Given the description of an element on the screen output the (x, y) to click on. 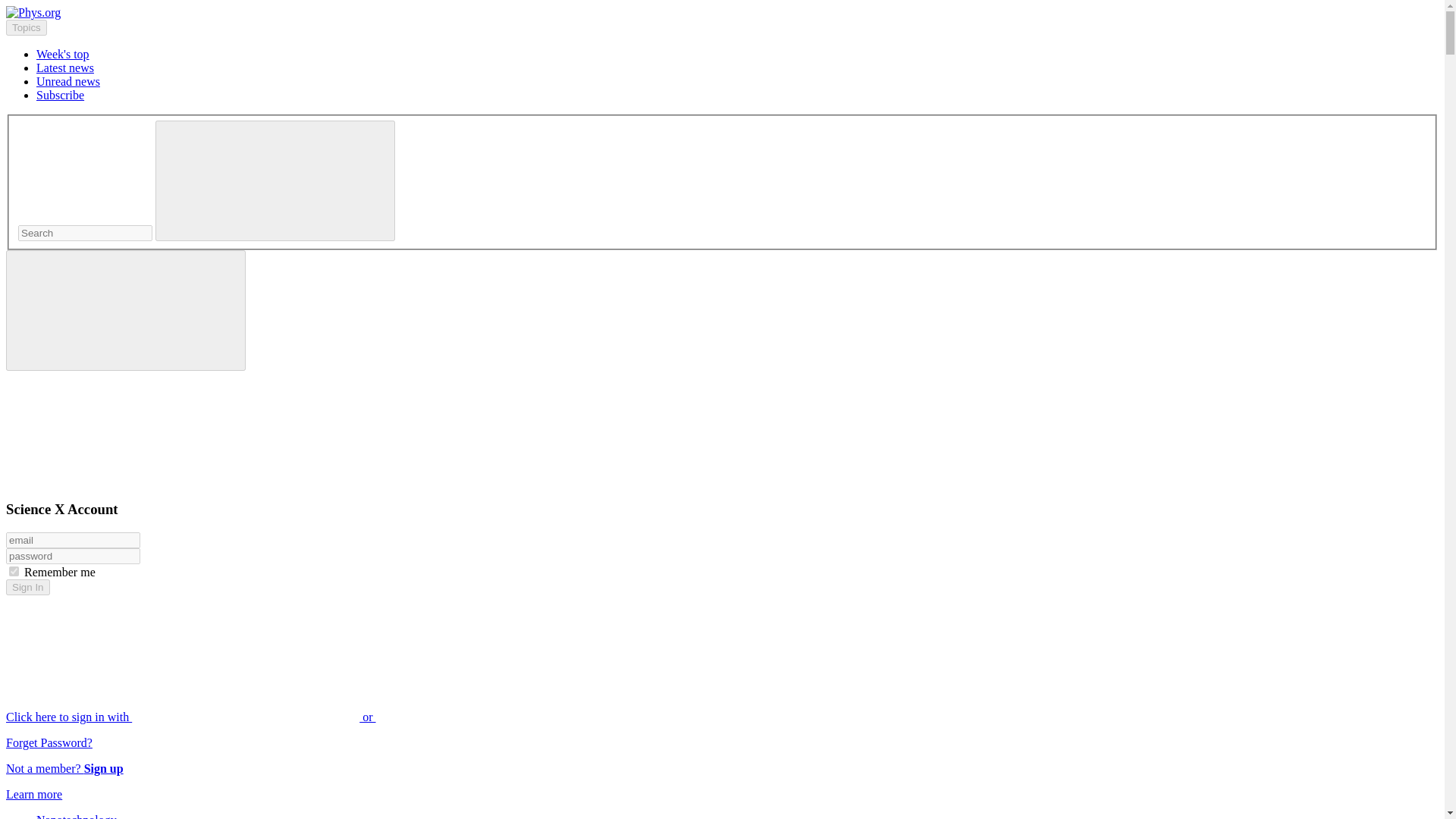
Week's top (62, 53)
Click here to sign in with or (304, 716)
Topics (25, 27)
Forget Password? (49, 742)
Nanotechnology (76, 816)
Unread news (68, 81)
Sign In (27, 587)
Not a member? Sign up (64, 768)
on (13, 571)
Subscribe (60, 94)
